Given the description of an element on the screen output the (x, y) to click on. 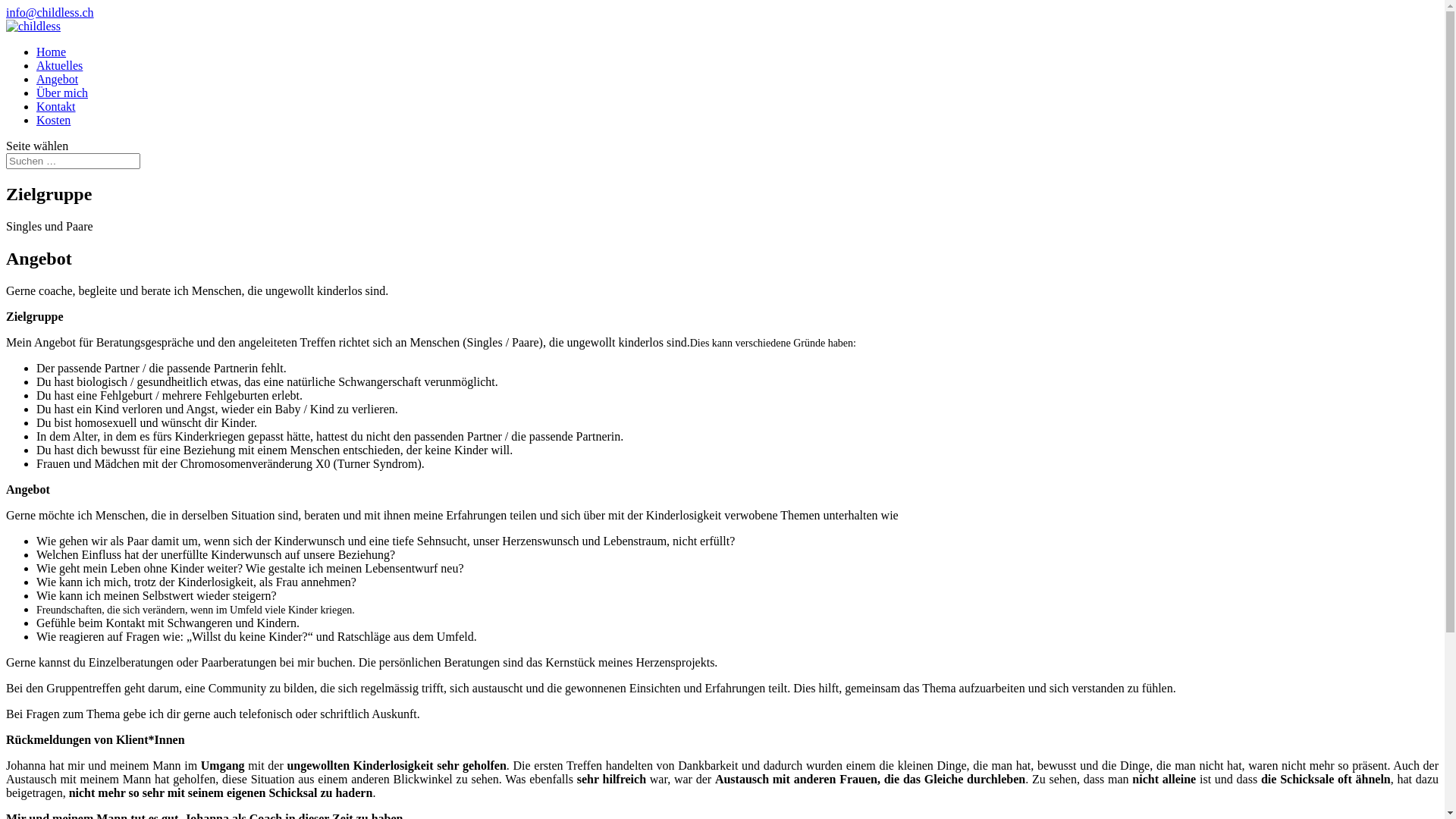
Kontakt Element type: text (55, 106)
Kosten Element type: text (53, 119)
Angebot Element type: text (57, 78)
Suchen nach: Element type: hover (73, 161)
info@childless.ch Element type: text (50, 12)
Home Element type: text (50, 51)
Aktuelles Element type: text (59, 65)
